Given the description of an element on the screen output the (x, y) to click on. 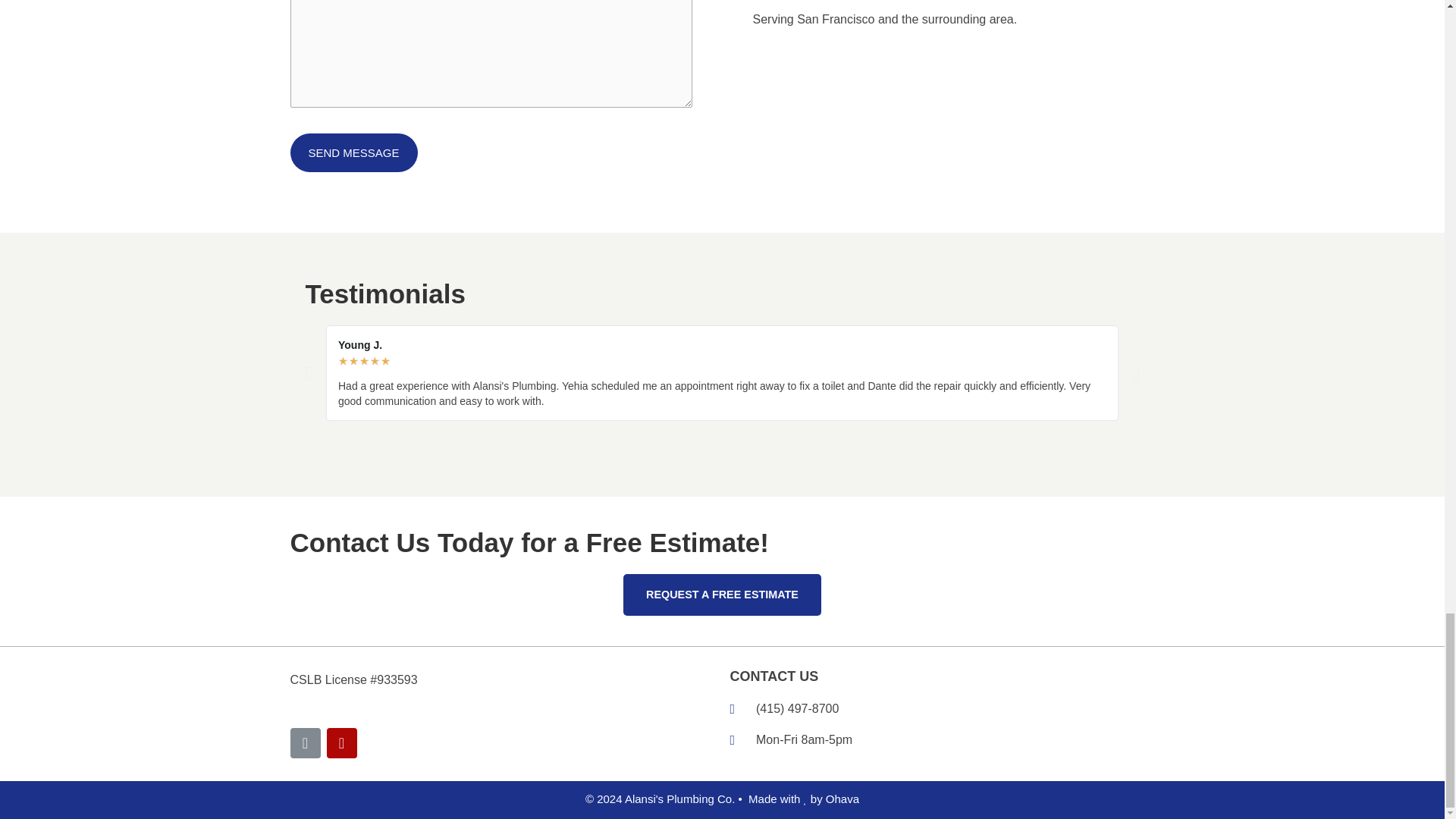
REQUEST A FREE ESTIMATE (722, 594)
Send Message (352, 151)
Send Message (352, 151)
Made with by Ohava (803, 798)
